Given the description of an element on the screen output the (x, y) to click on. 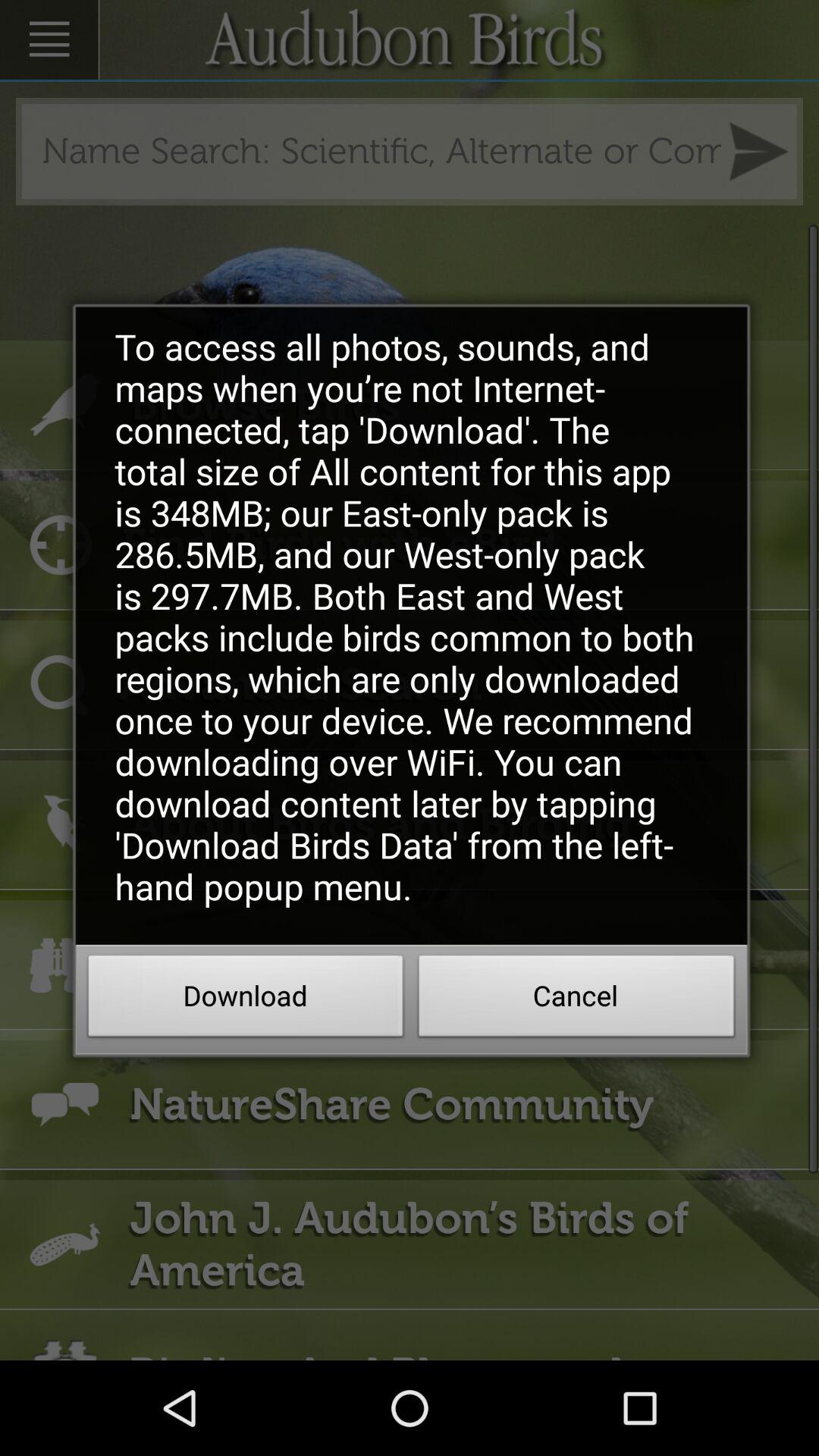
swipe until the cancel button (576, 1000)
